Given the description of an element on the screen output the (x, y) to click on. 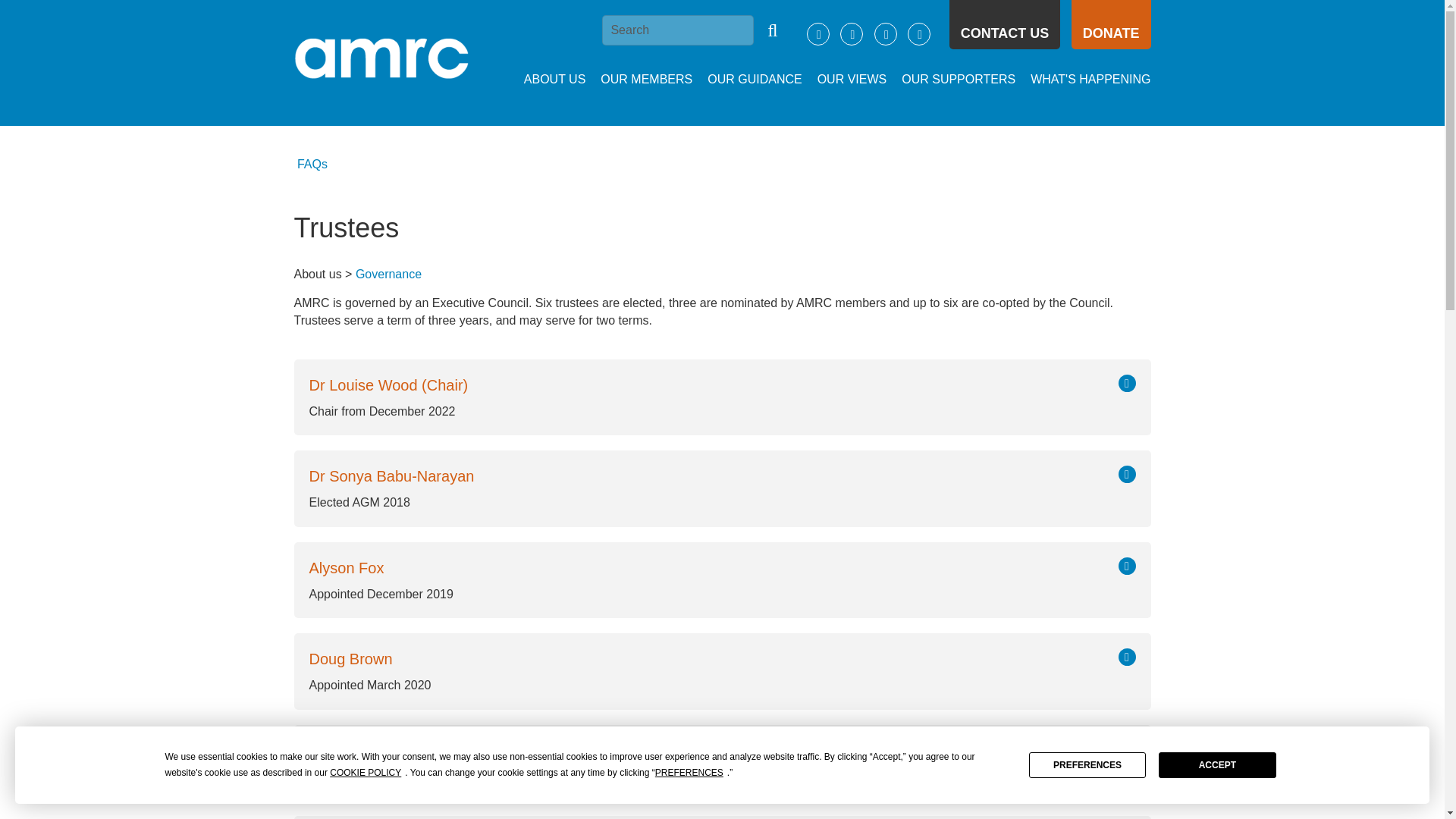
Our supporters drop down menu (950, 79)
Our views drop down menu (844, 79)
Show answer (1126, 474)
About us drop down menu (547, 79)
SEARCH (772, 30)
ABOUT US (547, 79)
Home (381, 62)
OUR MEMBERS (639, 79)
OUR GUIDANCE (747, 79)
CONTACT US (1005, 24)
What (1082, 79)
YouTube (885, 33)
Our guidance drop down menu (747, 79)
PREFERENCES (689, 772)
Show answer (1126, 383)
